Given the description of an element on the screen output the (x, y) to click on. 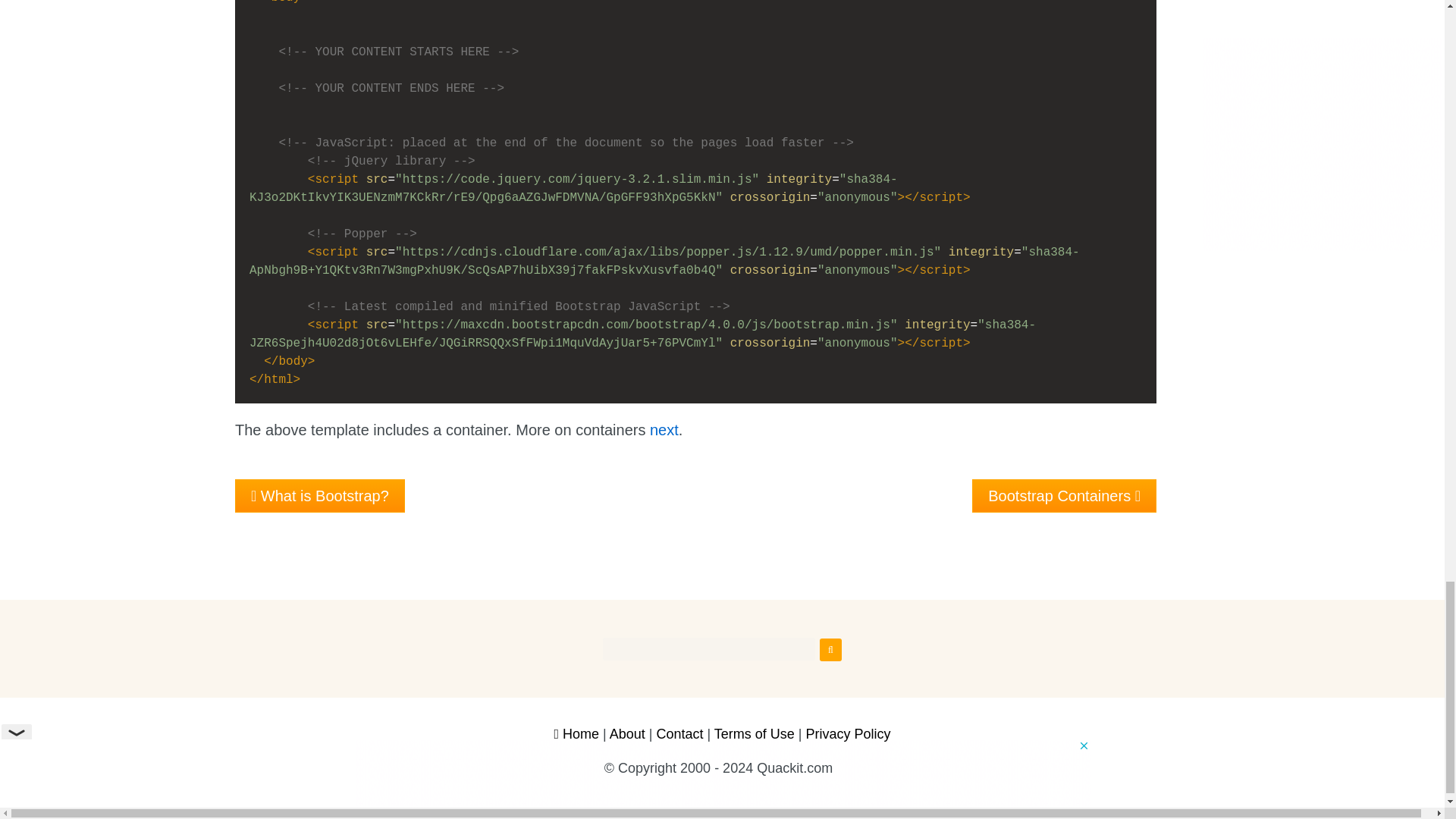
Bootstrap Containers (1064, 495)
What is Bootstrap? (319, 495)
next (663, 429)
